Given the description of an element on the screen output the (x, y) to click on. 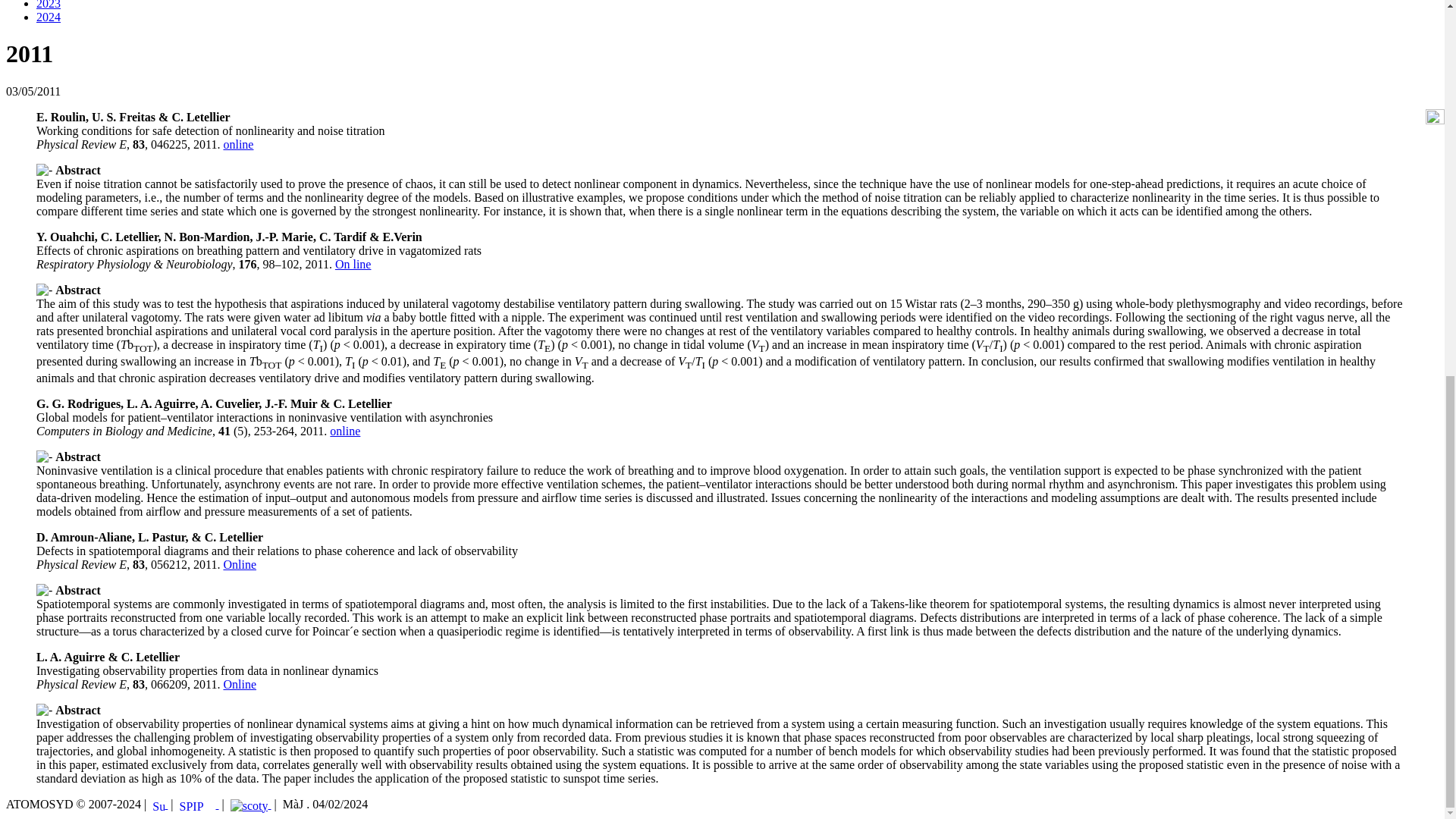
Syndiquer tout le site (159, 803)
